Given the description of an element on the screen output the (x, y) to click on. 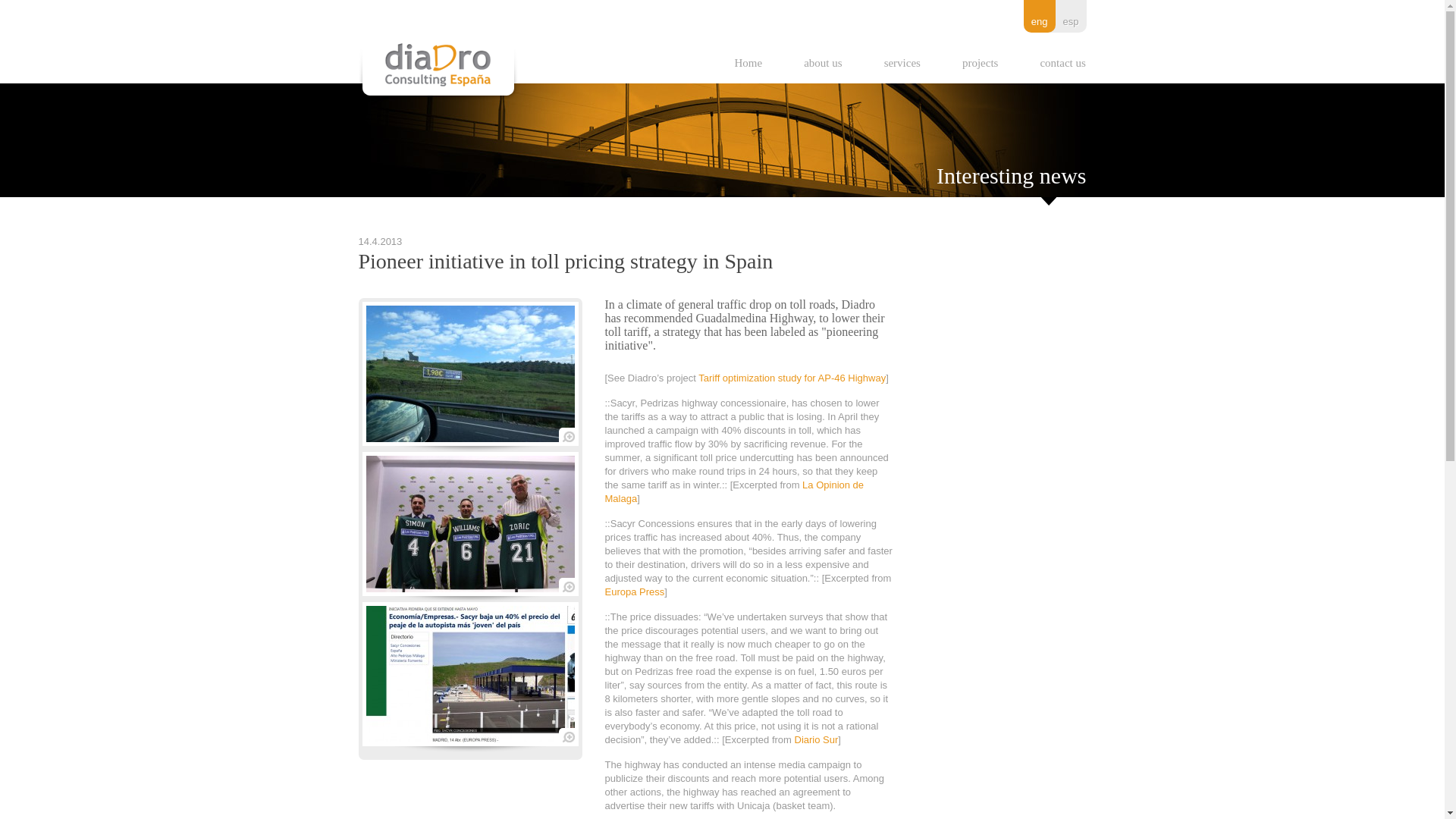
eng (1039, 21)
Tariff optimization study for AP-46 Highway (791, 378)
Tariff optimization study for AP-46 Highway (791, 378)
Pioneer initiative in toll pricing strategy in Spain (469, 438)
Home (744, 62)
contact us (1058, 62)
esp (1070, 21)
projects (976, 62)
esp (1070, 21)
La Opinion de Malaga (734, 491)
